Given the description of an element on the screen output the (x, y) to click on. 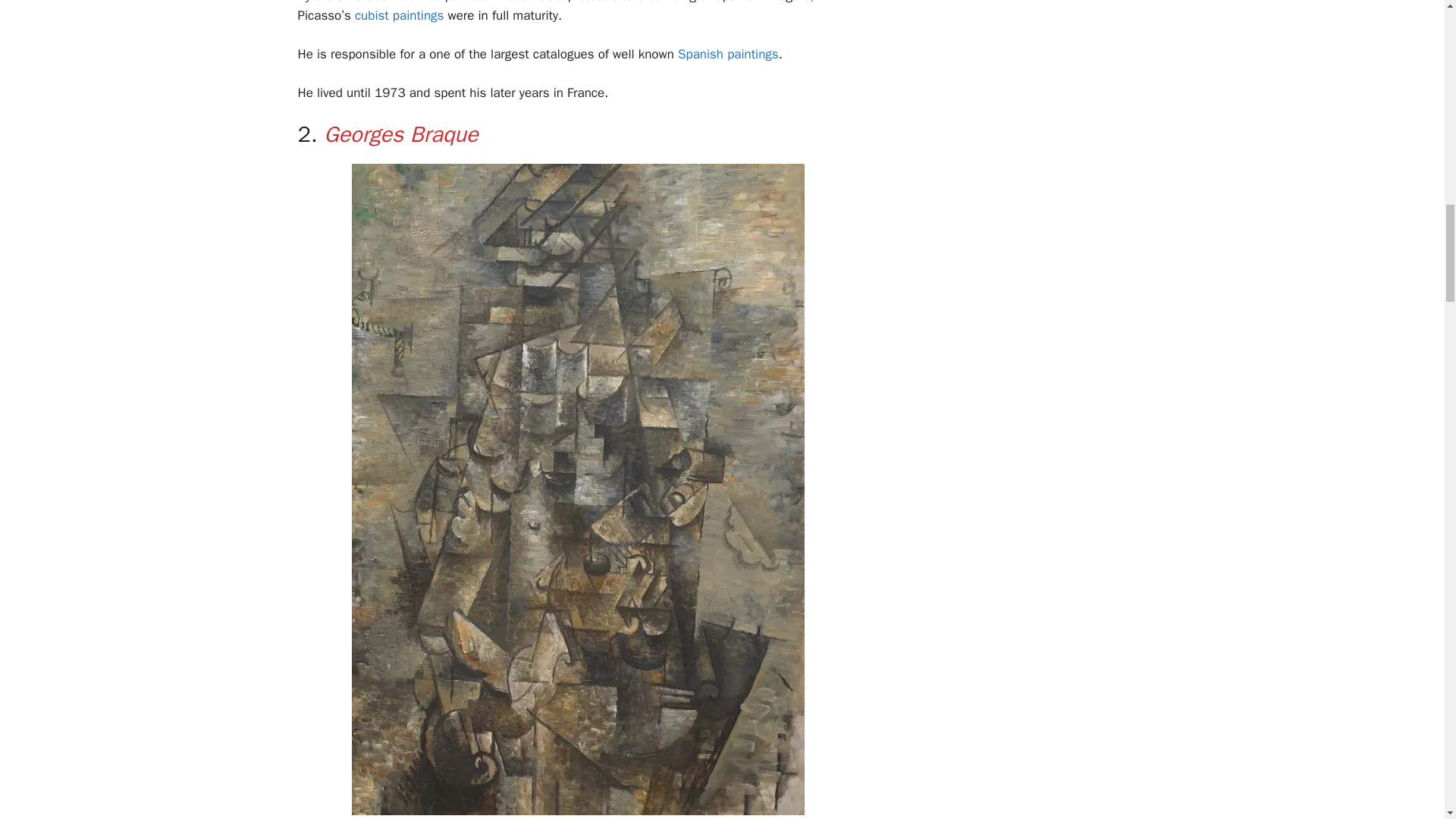
Spanish paintings (728, 53)
cubist paintings (399, 15)
